Given the description of an element on the screen output the (x, y) to click on. 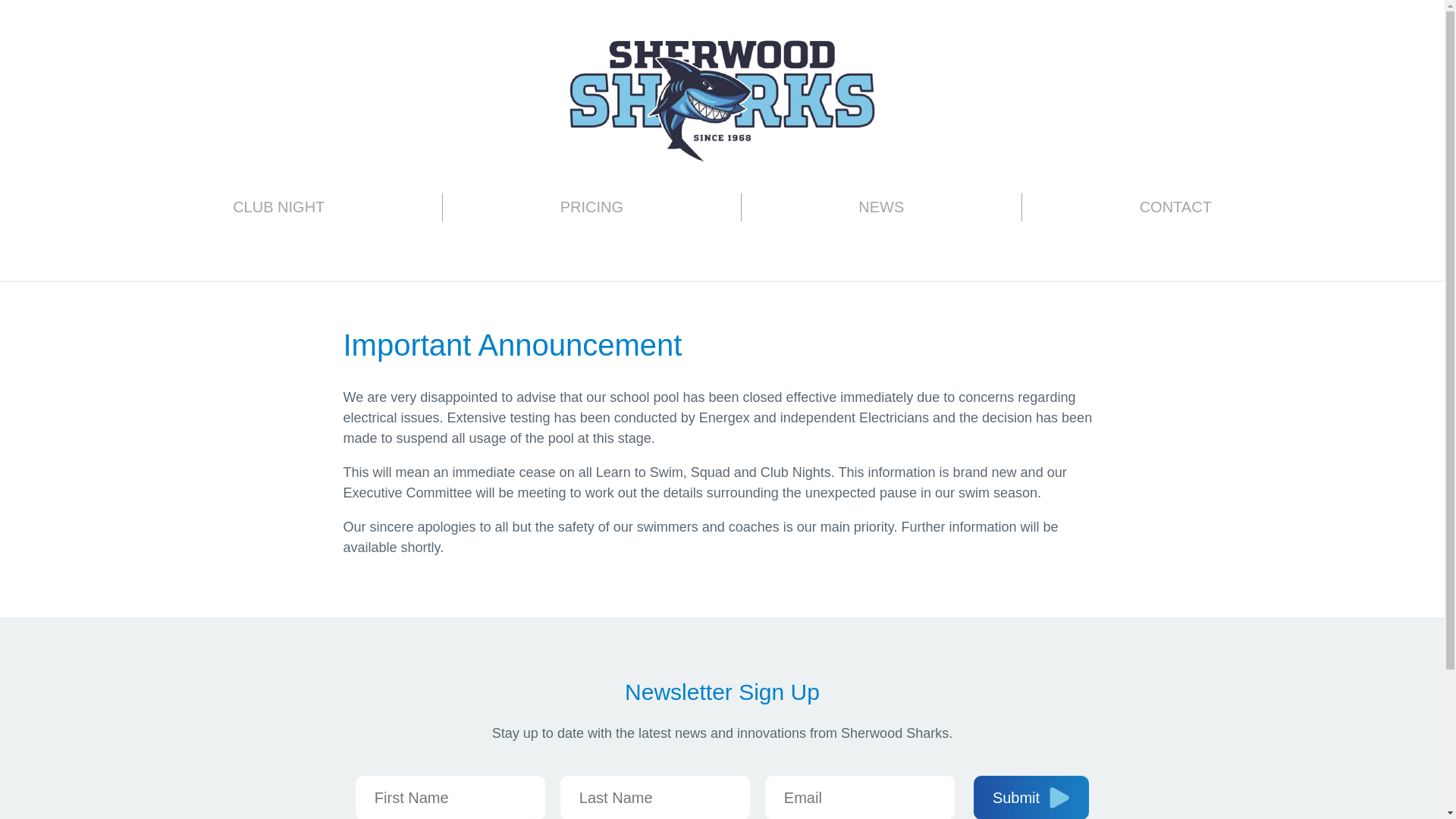
Submit (1031, 797)
CONTACT (1175, 206)
CLUB NIGHT (278, 206)
Submit (1031, 797)
Sherwood Sharks Swim Club (721, 99)
PRICING (591, 206)
NEWS (881, 206)
